Given the description of an element on the screen output the (x, y) to click on. 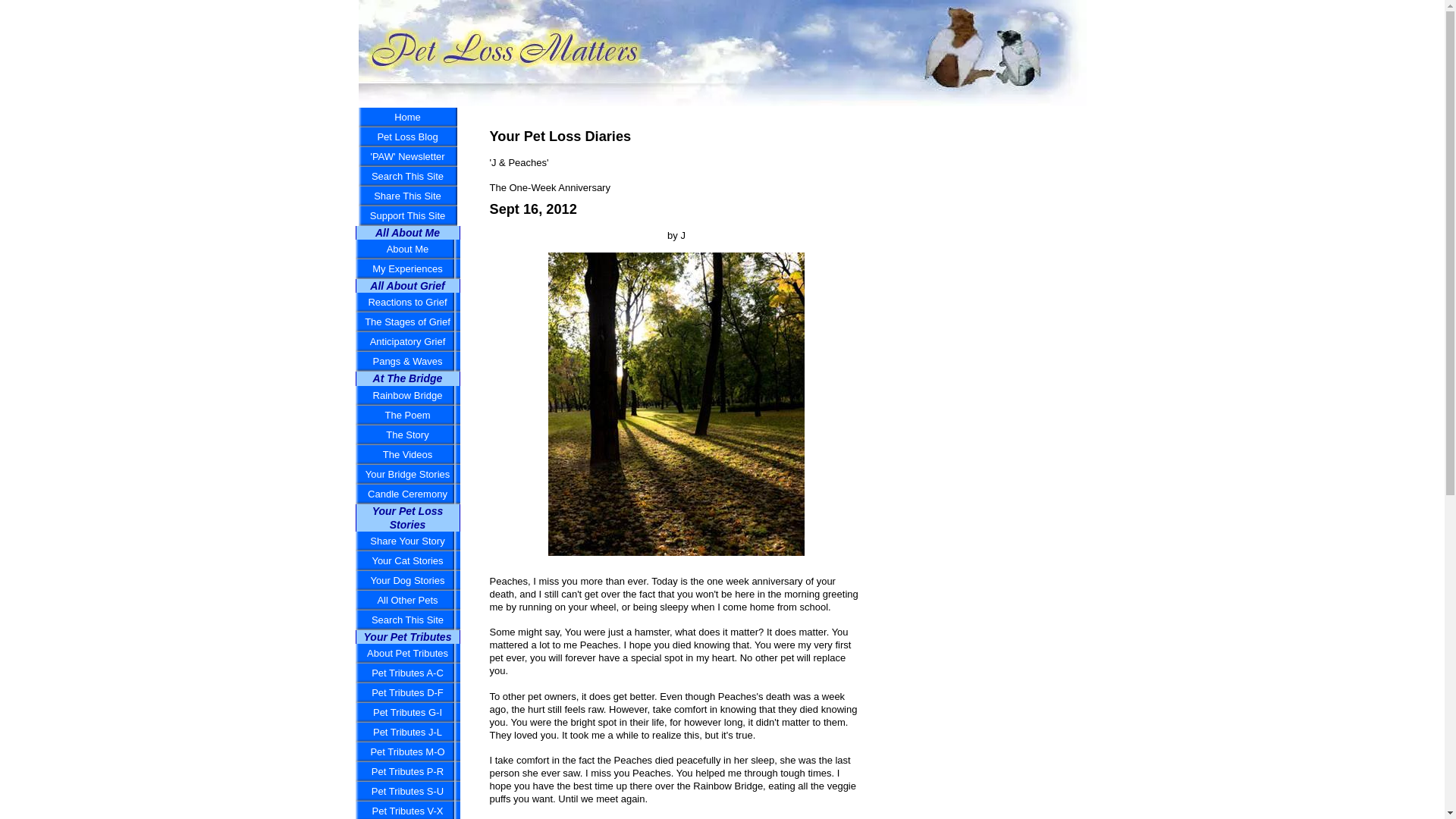
Support This Site (407, 216)
The Stages of Grief (407, 322)
About Pet Tributes (407, 653)
Reactions to Grief (407, 302)
Candle Ceremony (407, 494)
Rainbow Bridge (407, 395)
Your Bridge Stories (407, 474)
Pet Tributes M-O (407, 752)
Search This Site (407, 176)
'PAW' Newsletter (407, 157)
